Given the description of an element on the screen output the (x, y) to click on. 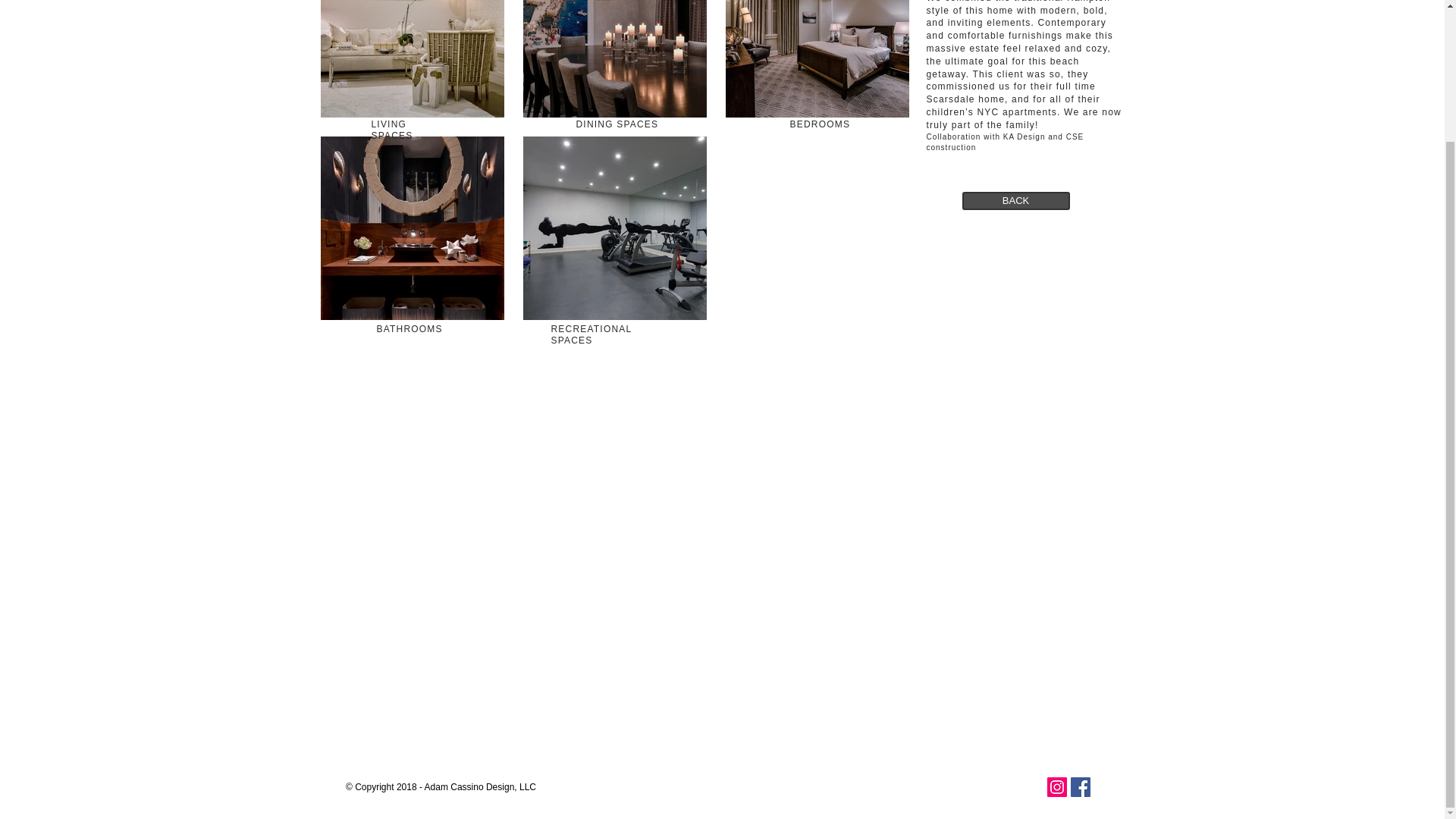
BACK (1014, 200)
